Given the description of an element on the screen output the (x, y) to click on. 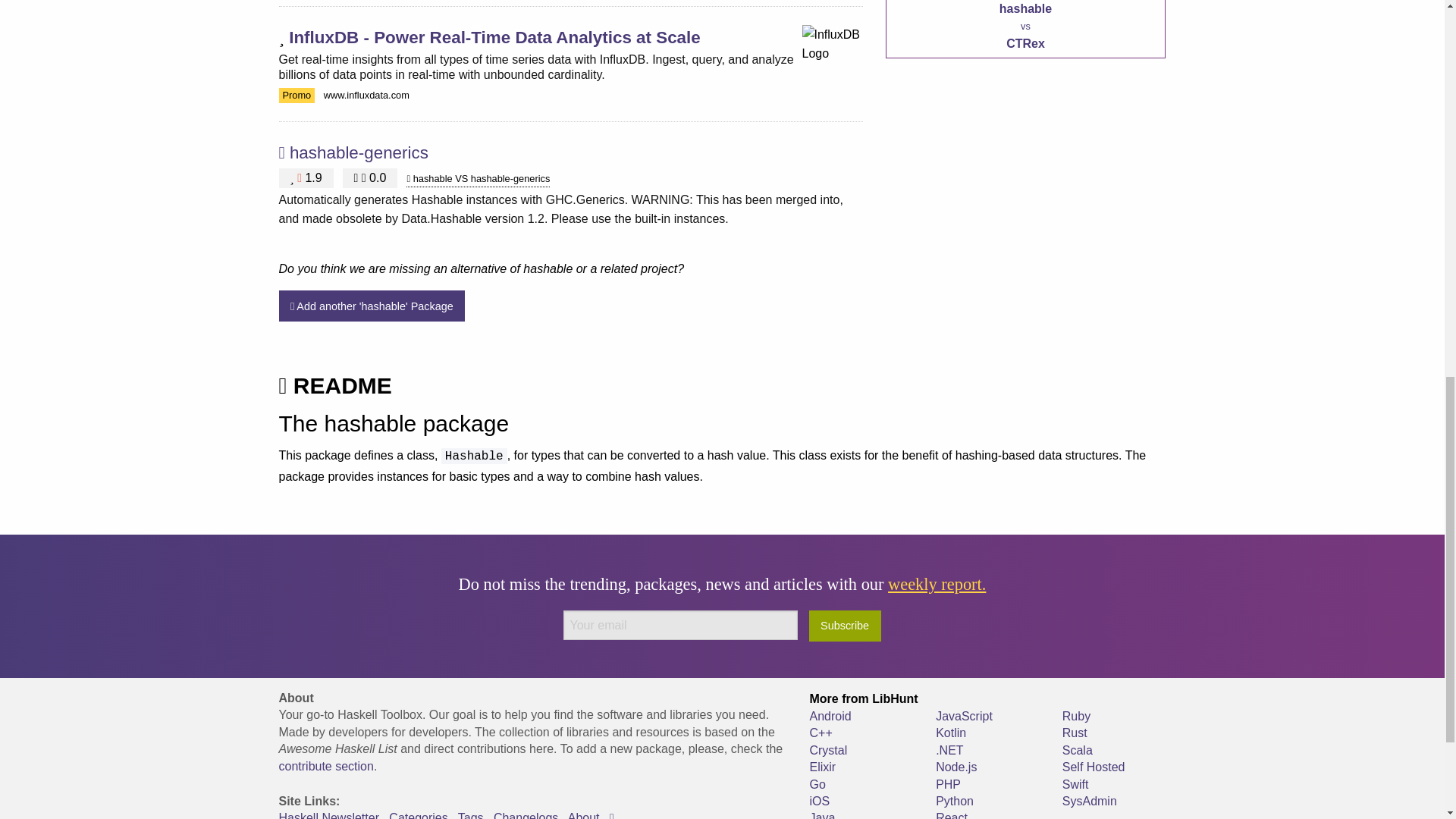
Add another 'hashable' Package (372, 305)
hashable-generics (358, 152)
InfluxDB Logo (832, 55)
Subscribe (844, 625)
InfluxDB - Power Real-Time Data Analytics at Scale (494, 36)
Compare hashable and CTRex (1025, 29)
hashable VS hashable-generics (478, 179)
